Given the description of an element on the screen output the (x, y) to click on. 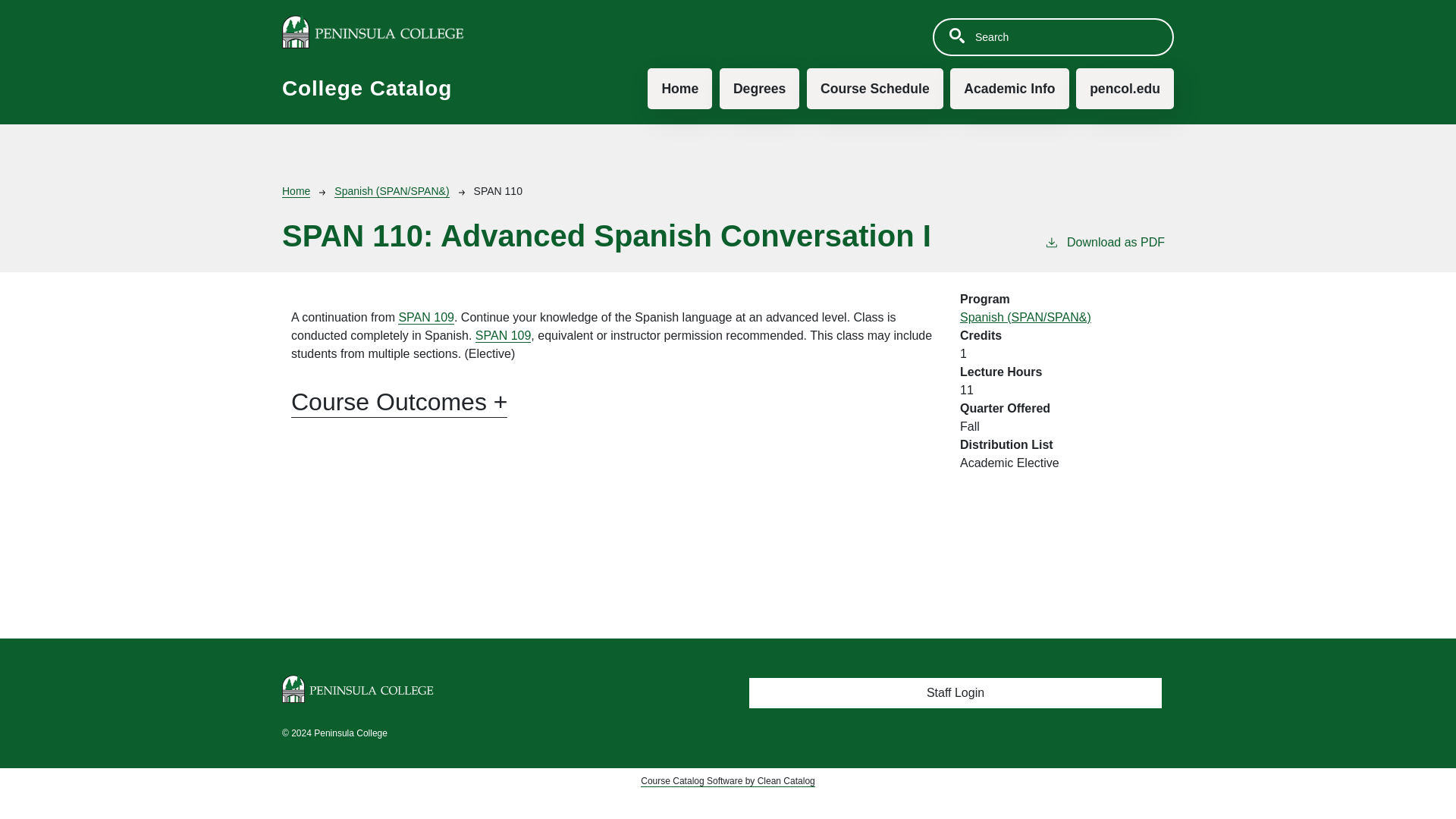
Search (956, 35)
Home (679, 87)
SPAN 109 (425, 317)
Course Schedule (874, 87)
Download as PDF (1103, 252)
Staff Login (955, 693)
Degrees (759, 87)
SPAN 109 (503, 336)
Course Outcomes (398, 401)
Home (296, 191)
